Given the description of an element on the screen output the (x, y) to click on. 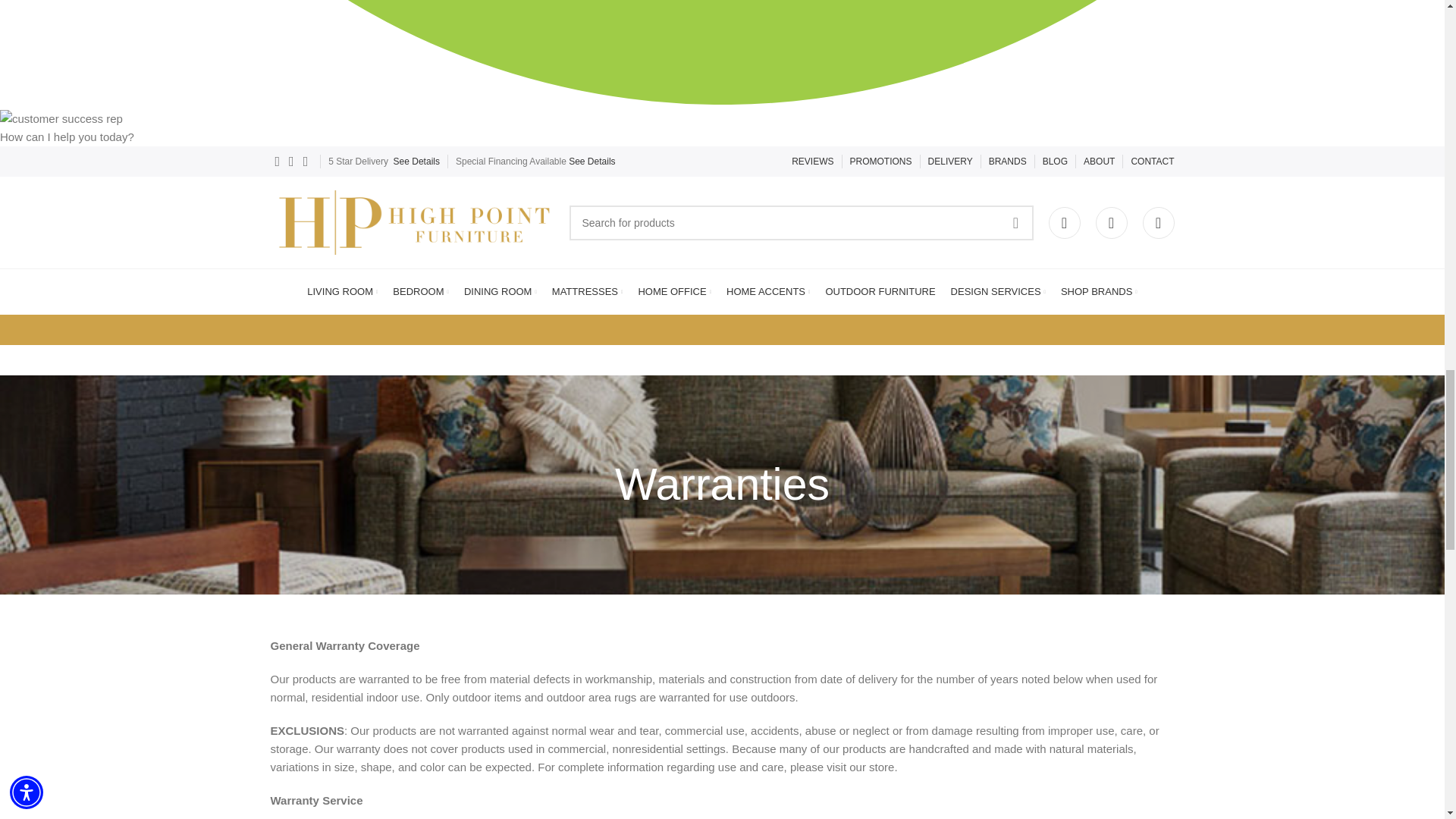
See Details (591, 161)
Log in (954, 468)
PROMOTIONS (881, 161)
Compare products (1157, 223)
BEDROOM (420, 291)
My account (1064, 223)
LIVING ROOM (342, 291)
Search for products (800, 221)
My Wishlist (1110, 223)
REVIEWS (812, 161)
ABOUT (1099, 161)
CONTACT (1152, 161)
BRANDS (1007, 161)
See Details (416, 161)
